Given the description of an element on the screen output the (x, y) to click on. 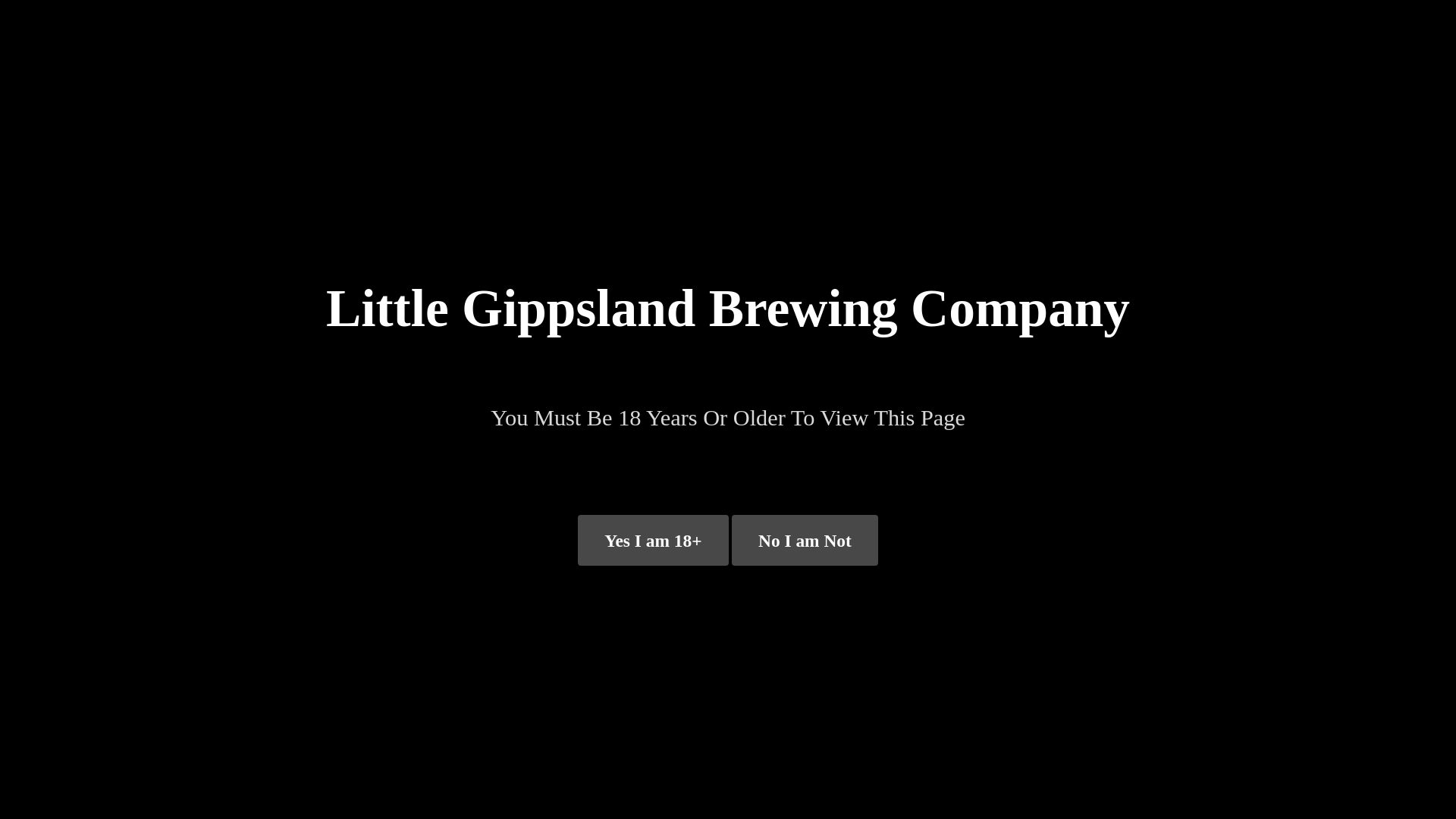
Yes I am 18+ Element type: text (652, 539)
No I am Not Element type: text (804, 539)
